Given the description of an element on the screen output the (x, y) to click on. 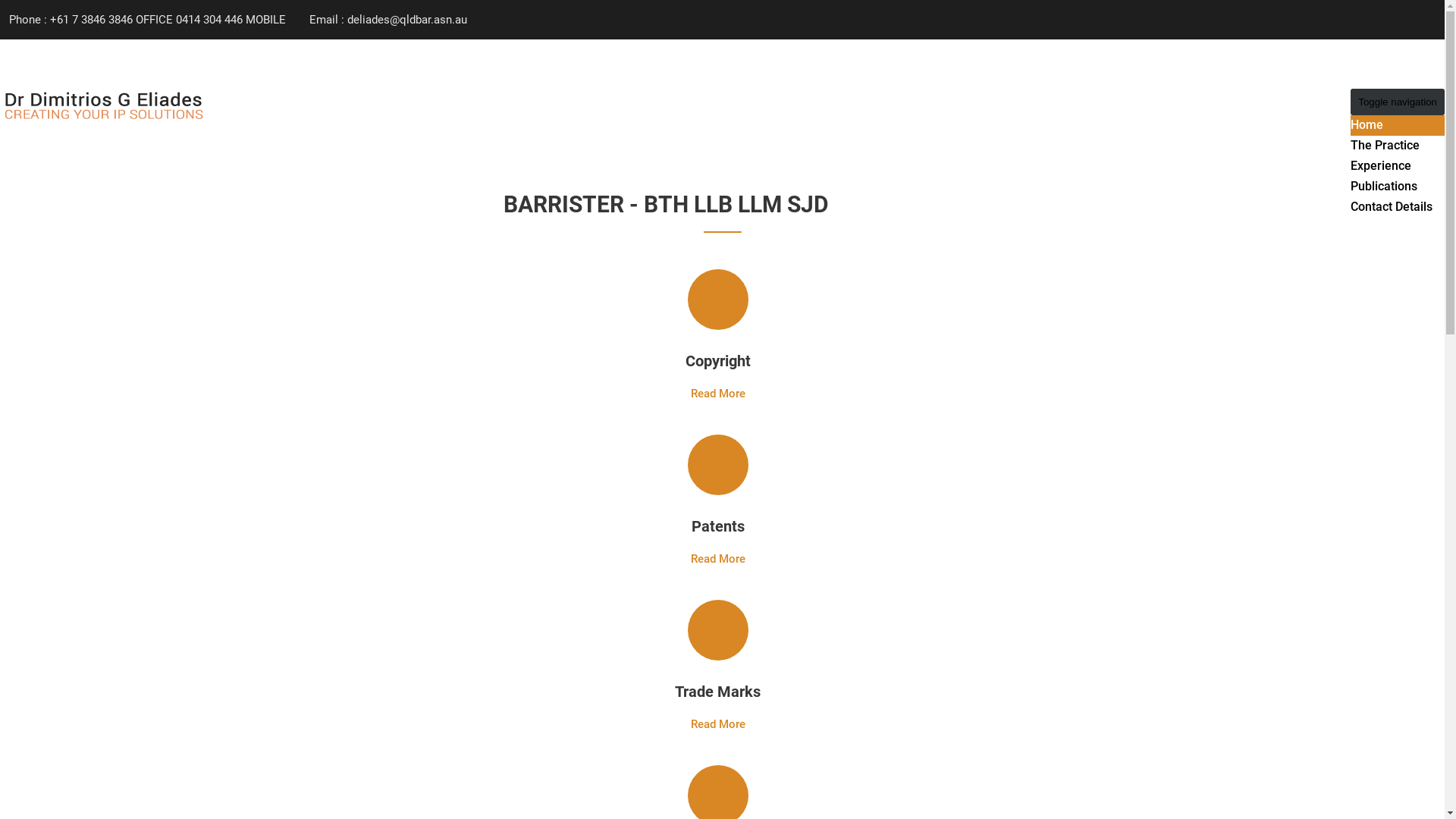
Contact Details Element type: text (1391, 206)
Read More Element type: text (717, 393)
Read More Element type: text (717, 558)
Patents Element type: text (717, 526)
Toggle navigation Element type: text (1397, 101)
Copyright Element type: text (717, 360)
Experience Element type: text (1380, 165)
The Practice Element type: text (1384, 145)
Publications Element type: text (1383, 185)
Home Element type: text (1366, 124)
Read More Element type: text (717, 724)
Trade Marks Element type: text (717, 691)
